Given the description of an element on the screen output the (x, y) to click on. 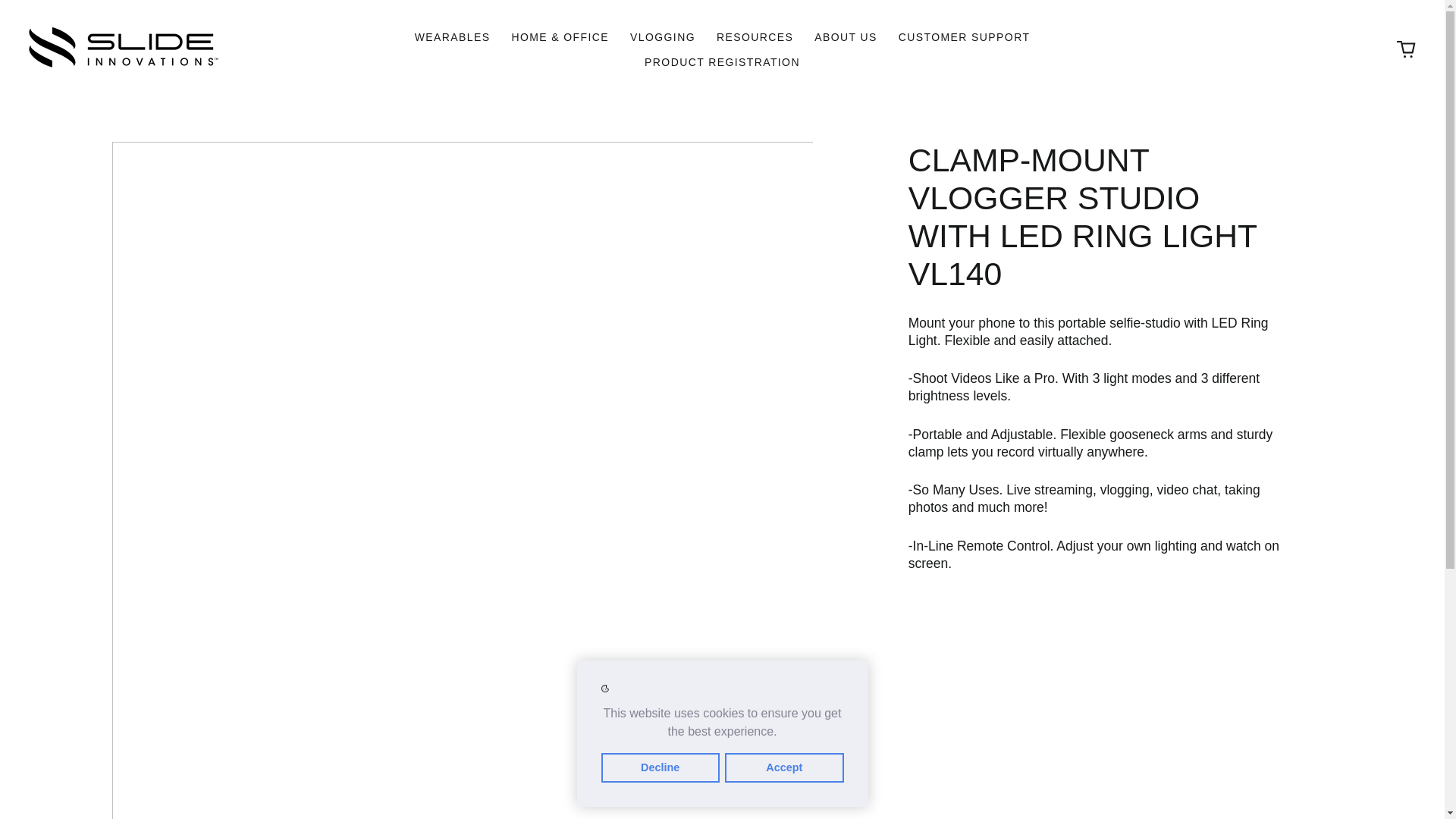
Accept (784, 767)
VLOGGING (663, 37)
0 items (1406, 49)
CUSTOMER SUPPORT (964, 37)
Decline (659, 767)
RESOURCES (754, 37)
WEARABLES (452, 37)
PRODUCT REGISTRATION (721, 61)
ABOUT US (845, 37)
